Given the description of an element on the screen output the (x, y) to click on. 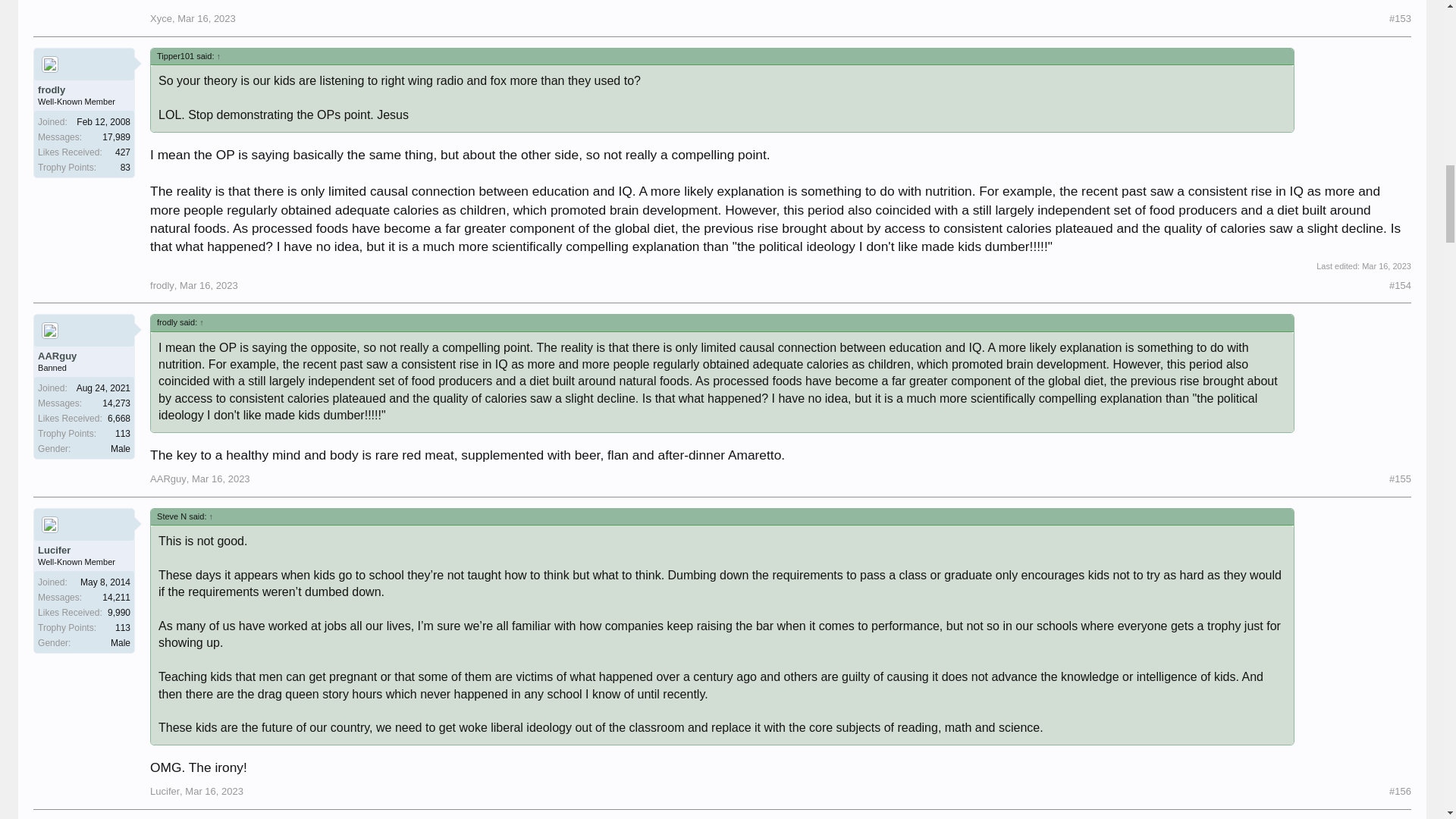
Permalink (1399, 19)
Permalink (221, 478)
Permalink (206, 18)
Permalink (208, 285)
Mar 16, 2023 at 9:19 PM (1385, 266)
Permalink (1399, 286)
Permalink (1399, 479)
